Given the description of an element on the screen output the (x, y) to click on. 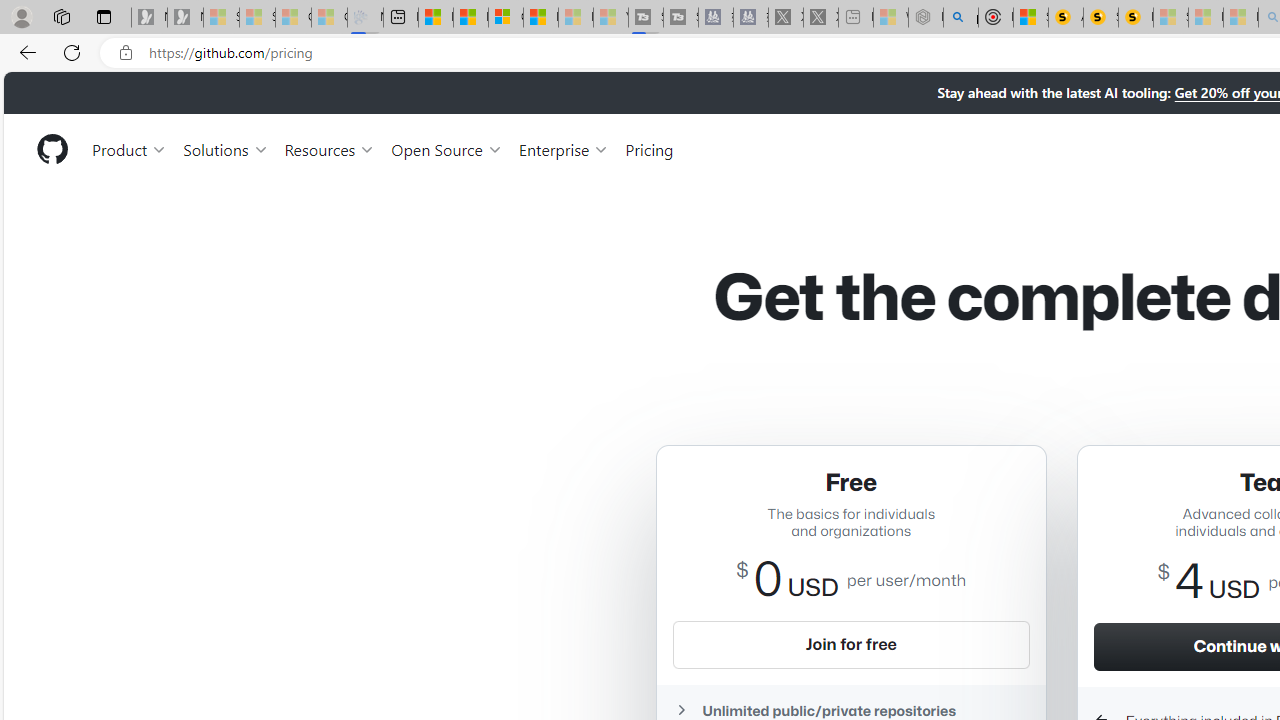
Enterprise (563, 148)
Microsoft Start - Sleeping (575, 17)
Resources (330, 148)
Resources (330, 148)
Open Source (446, 148)
